Given the description of an element on the screen output the (x, y) to click on. 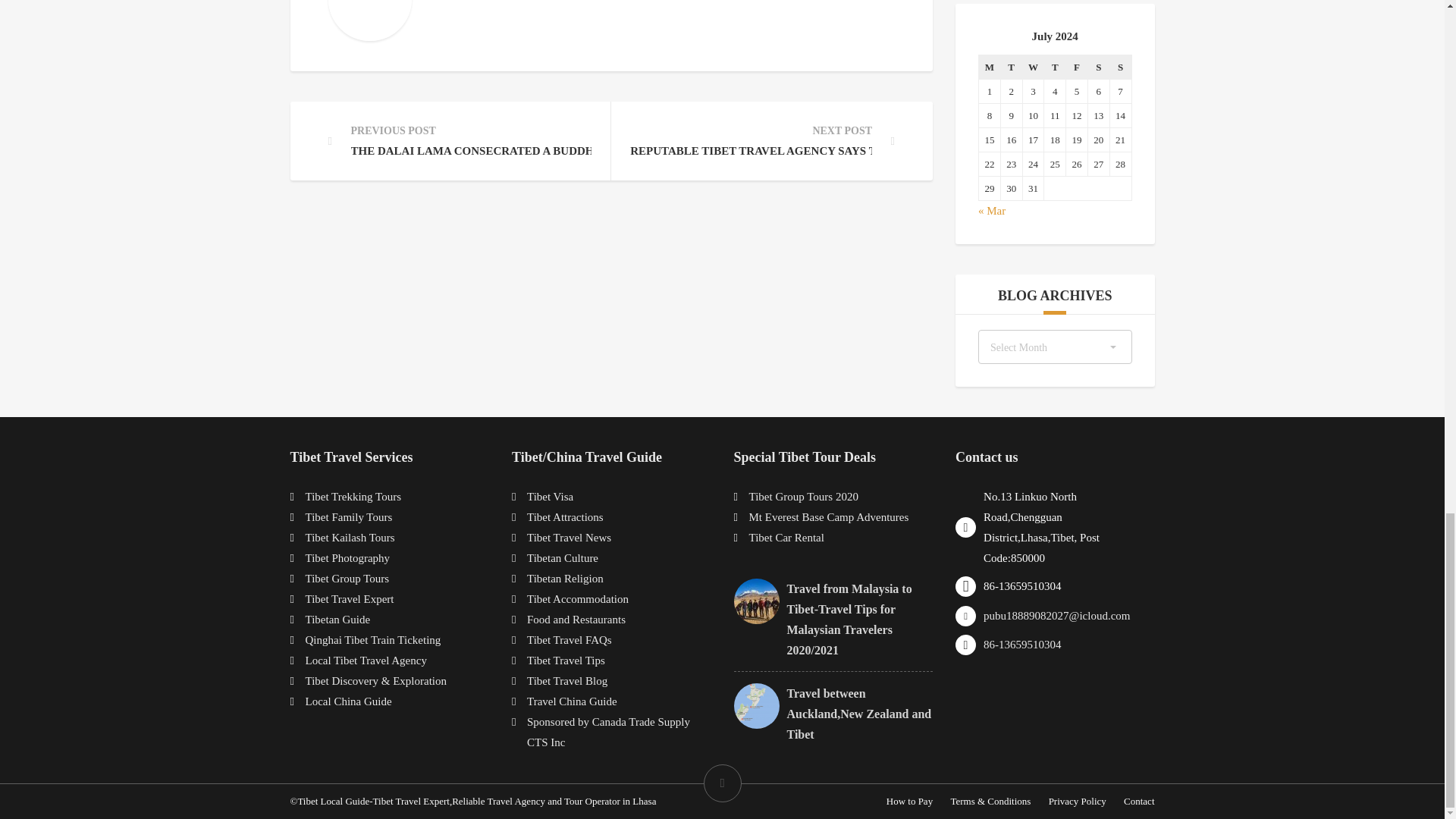
Saturday (1098, 67)
Sunday (1120, 67)
Friday (1076, 67)
Monday (989, 67)
Thursday (1054, 67)
Tuesday (1011, 67)
Wednesday (1032, 67)
Select Month (1055, 346)
